Given the description of an element on the screen output the (x, y) to click on. 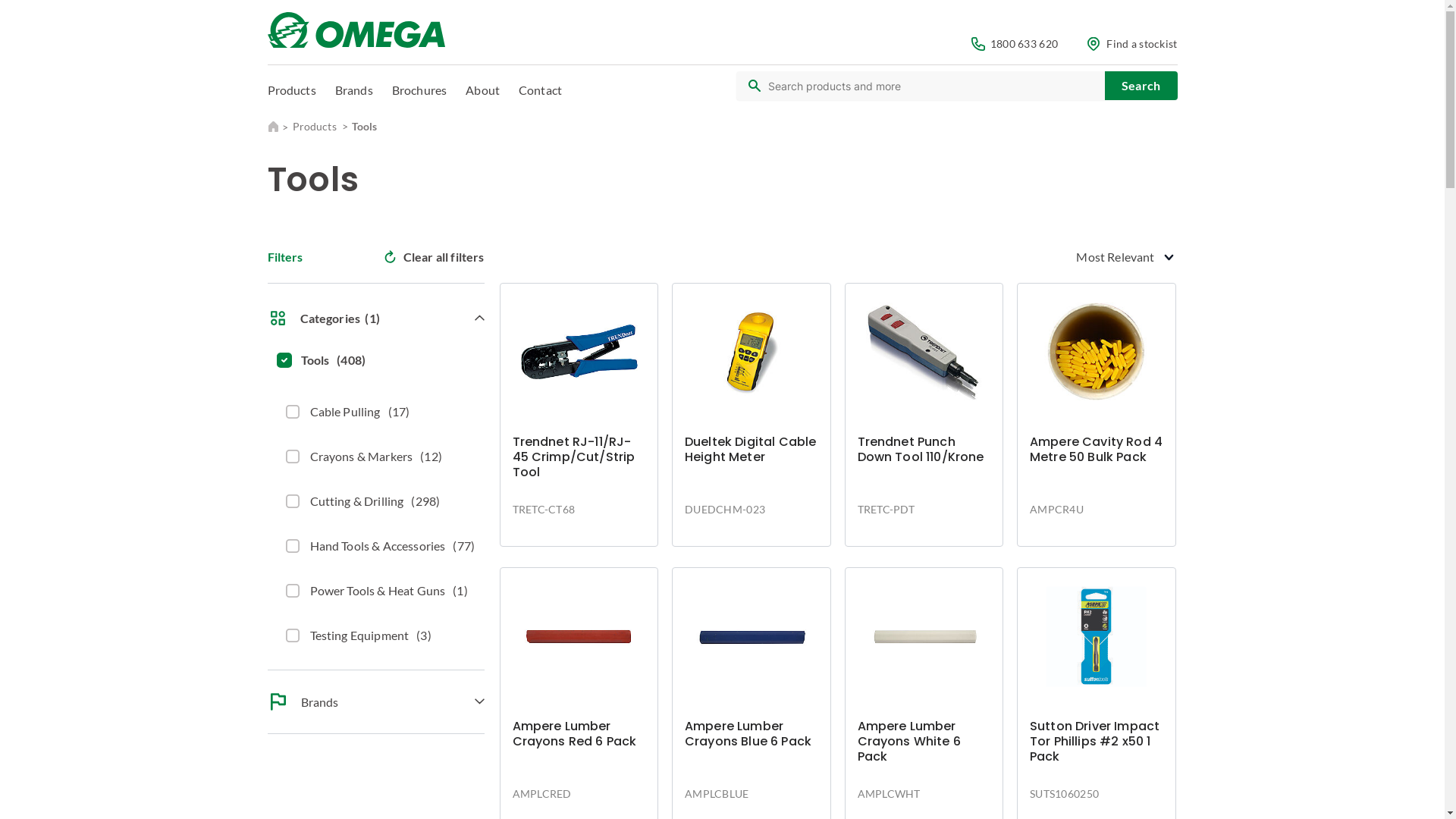
Trendnet RJ-11/RJ-45 Crimp/Cut/Strip Tool
TRETC-CT68 Element type: text (579, 414)
Products Element type: text (290, 88)
Ampere Cavity Rod 4 Metre 50 Bulk Pack
AMPCR4U Element type: text (1096, 414)
Find a stockist Element type: text (1131, 43)
About Element type: text (482, 88)
1800 633 620 Element type: text (1014, 43)
Trendnet Punch Down Tool 110/Krone
TRETC-PDT Element type: text (923, 414)
Dueltek Digital Cable Height Meter
DUEDCHM-023 Element type: text (751, 414)
Brands Element type: text (354, 88)
Contact Element type: text (539, 88)
Products Element type: text (320, 126)
Search Element type: text (1140, 85)
Clear all filters Element type: text (433, 256)
Brochures Element type: text (419, 88)
